Given the description of an element on the screen output the (x, y) to click on. 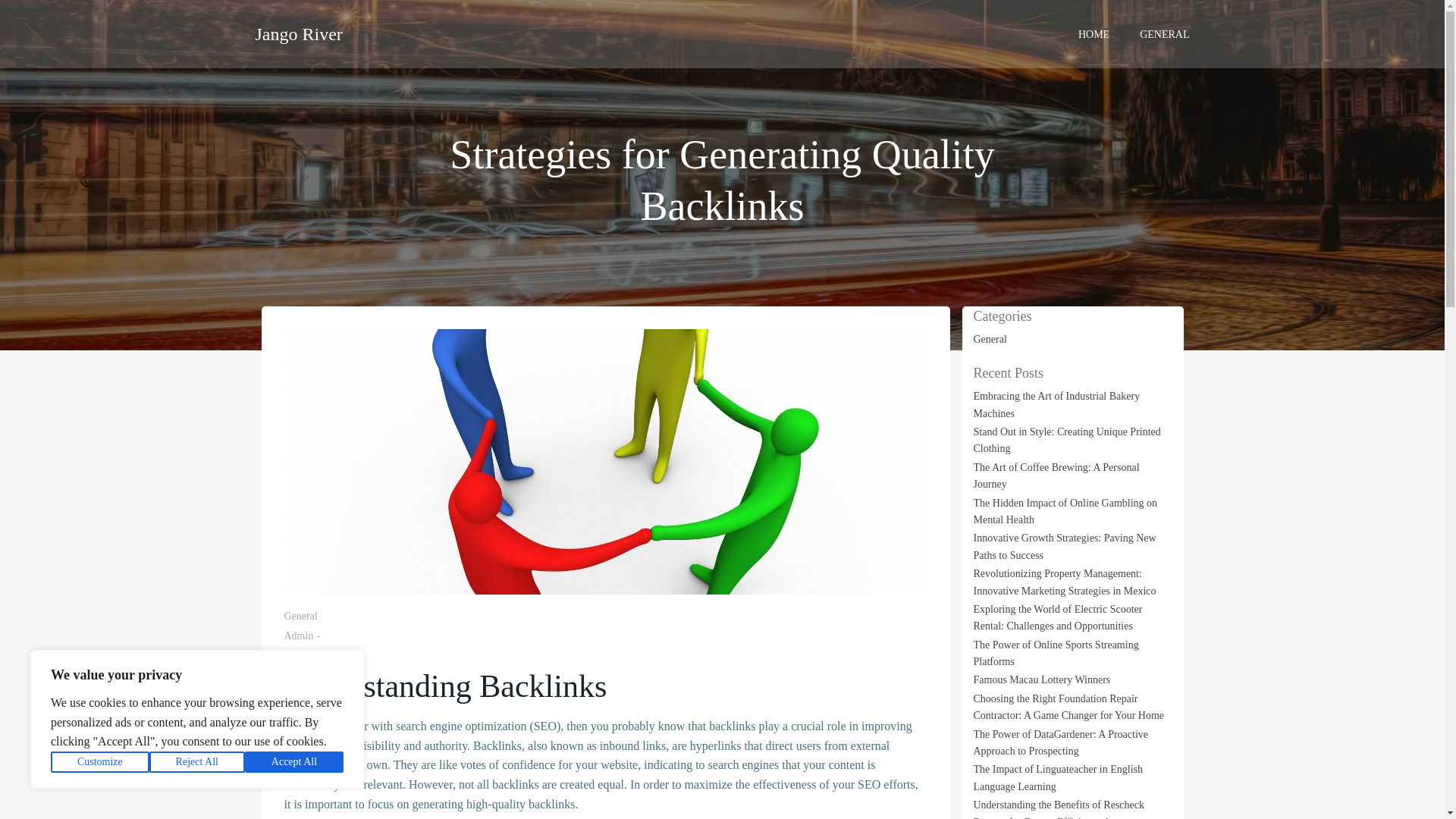
Embracing the Art of Industrial Bakery Machines (1057, 404)
HOME (1093, 33)
The Hidden Impact of Online Gambling on Mental Health (1065, 511)
Accept All (293, 762)
Admin (298, 635)
General (990, 338)
Stand Out in Style: Creating Unique Printed Clothing (1067, 439)
The Art of Coffee Brewing: A Personal Journey (1057, 475)
Customize (99, 762)
GENERAL (1164, 33)
